Given the description of an element on the screen output the (x, y) to click on. 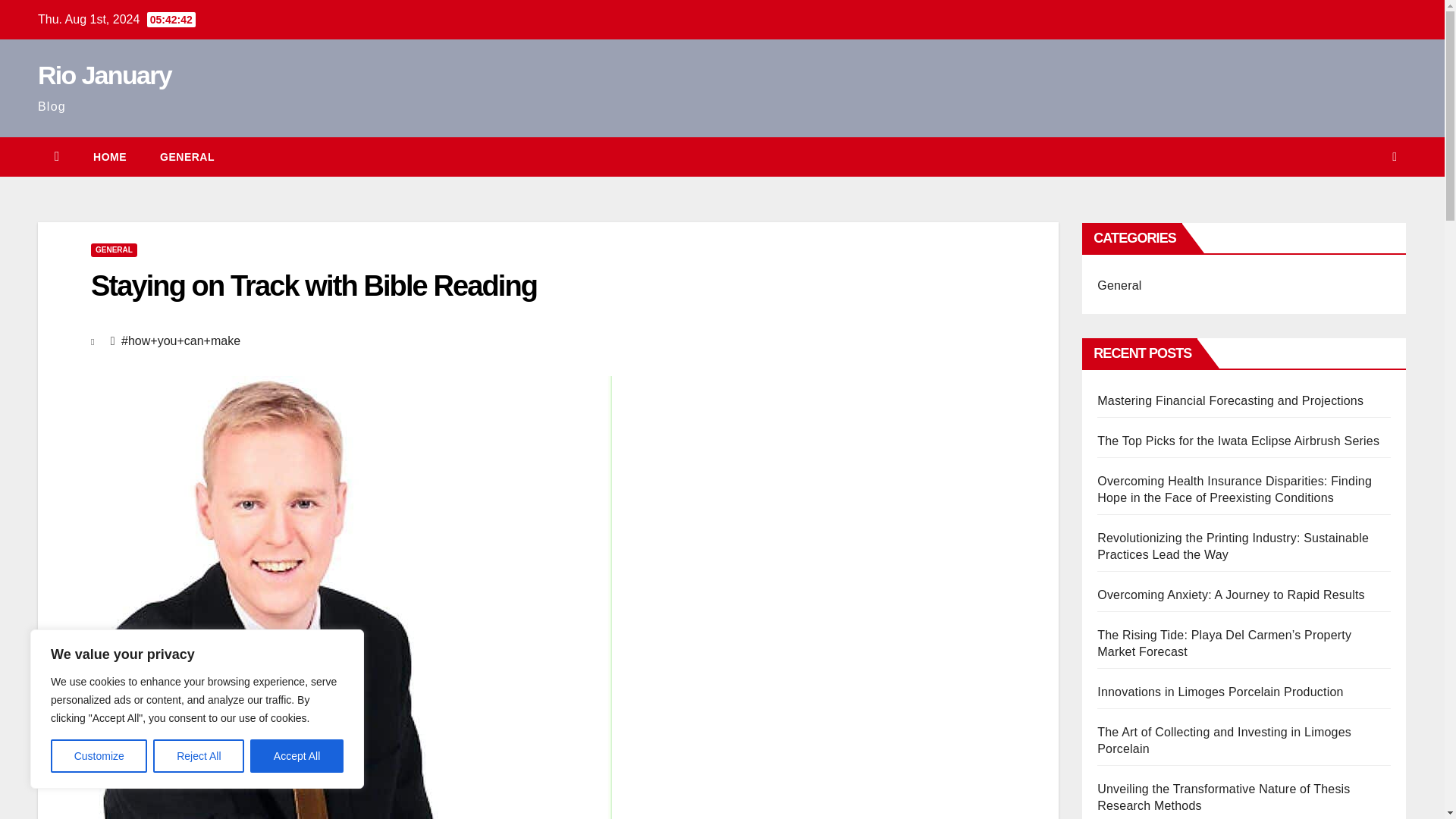
Rio January (104, 74)
Home (109, 156)
Customize (98, 756)
Accept All (296, 756)
HOME (109, 156)
GENERAL (113, 250)
Reject All (198, 756)
GENERAL (186, 156)
General (186, 156)
Permalink to: Staying on Track with Bible Reading (313, 286)
Staying on Track with Bible Reading (313, 286)
